Given the description of an element on the screen output the (x, y) to click on. 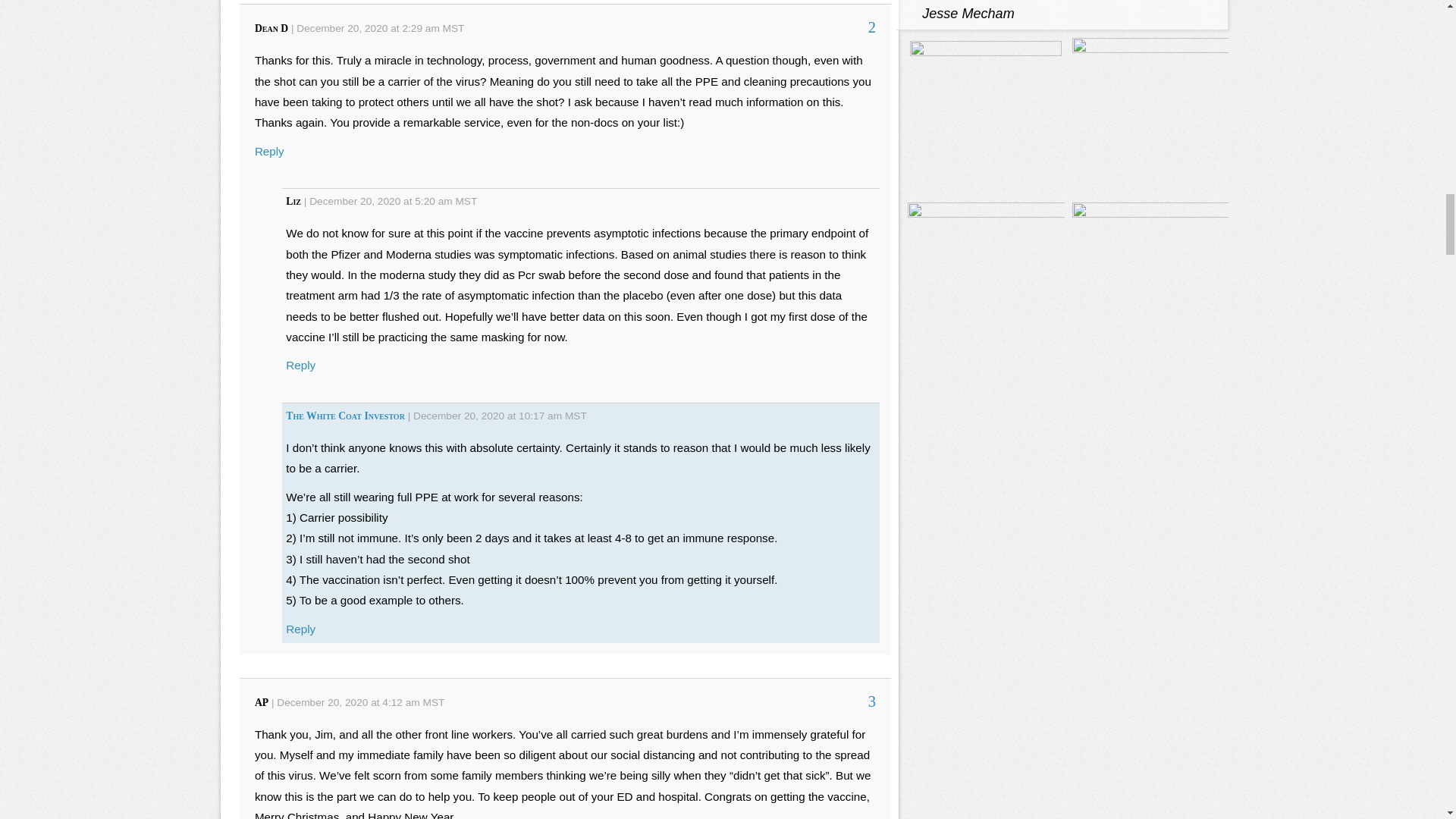
Mountain Standard Time (434, 702)
Mountain Standard Time (575, 415)
Mountain Standard Time (453, 28)
Mountain Standard Time (465, 201)
